Given the description of an element on the screen output the (x, y) to click on. 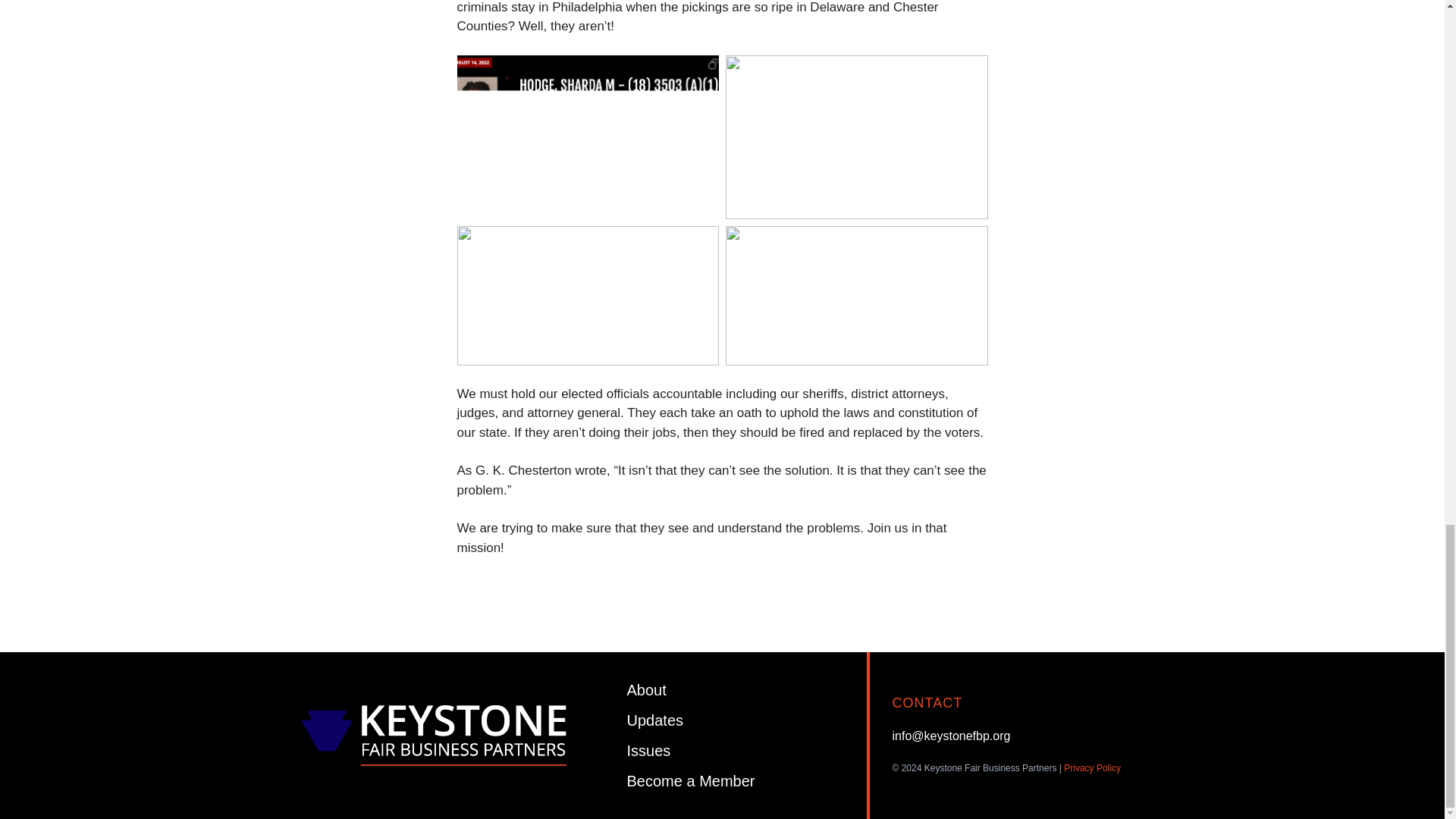
Privacy Policy (1092, 767)
About (646, 689)
Become a Member (691, 781)
Updates (655, 719)
Issues (649, 750)
